Given the description of an element on the screen output the (x, y) to click on. 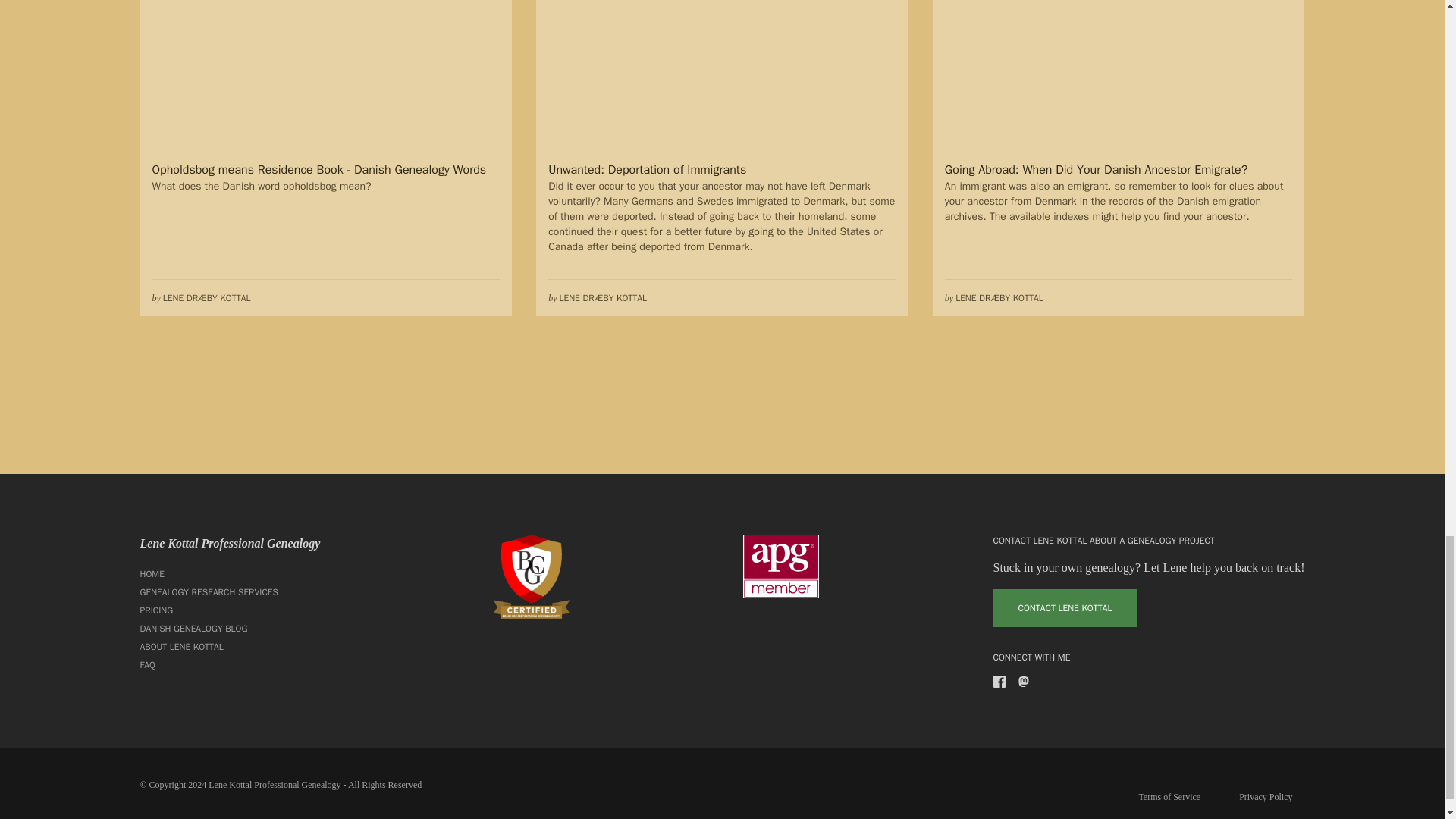
Facebook (999, 681)
FAQ (229, 665)
Member of Association of Professional Genealogists (780, 565)
Terms of Service (1168, 796)
ABOUT LENE KOTTAL (229, 647)
GENEALOGY RESEARCH SERVICES (229, 592)
PRICING (229, 610)
DANISH GENEALOGY BLOG (229, 628)
CONTACT LENE KOTTAL (1064, 607)
Mastodon (1023, 681)
HOME (229, 574)
Privacy Policy (1265, 796)
